Given the description of an element on the screen output the (x, y) to click on. 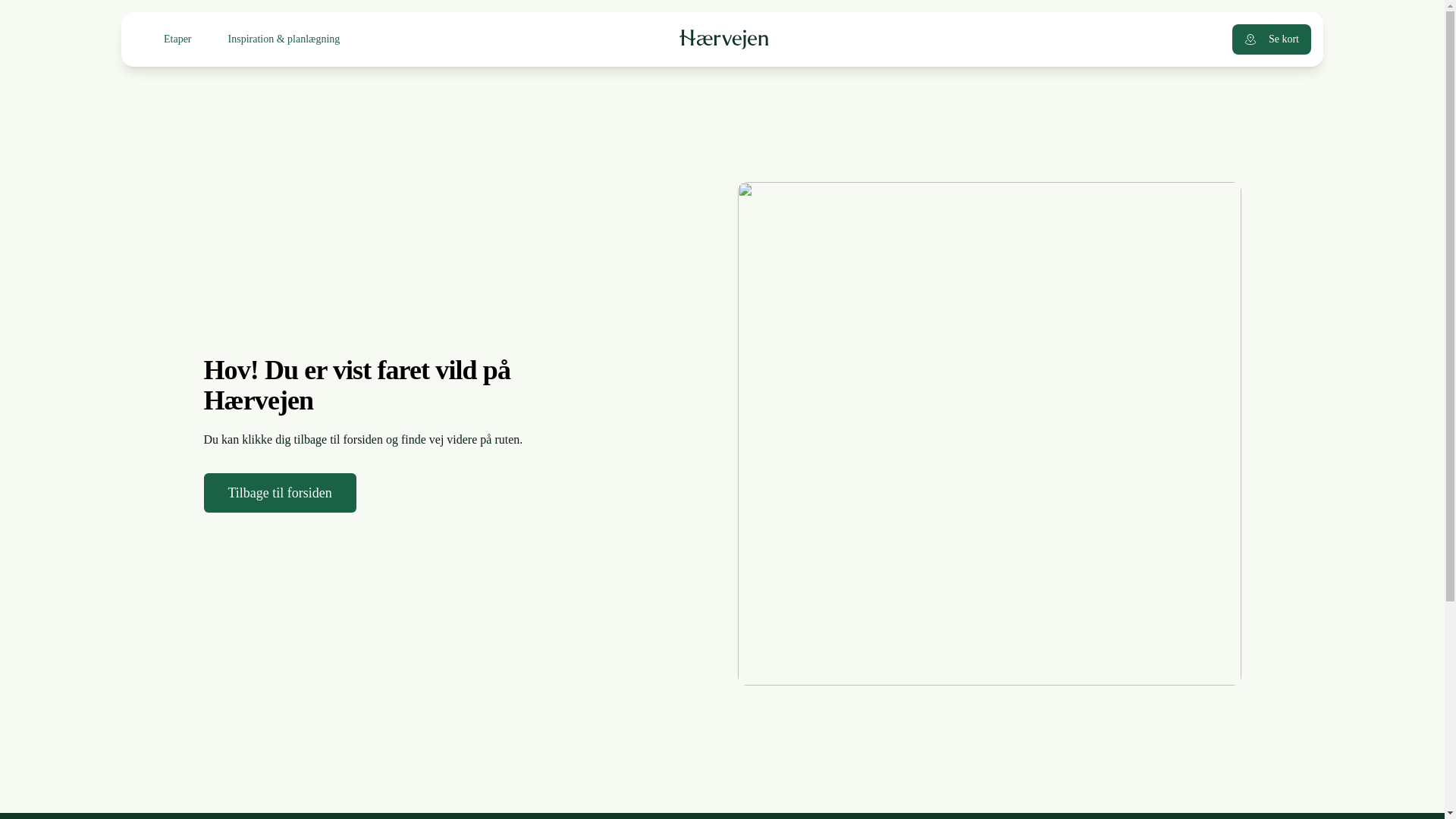
Etaper (177, 39)
Tilbage til forsiden (279, 492)
Se kort (1271, 39)
